Given the description of an element on the screen output the (x, y) to click on. 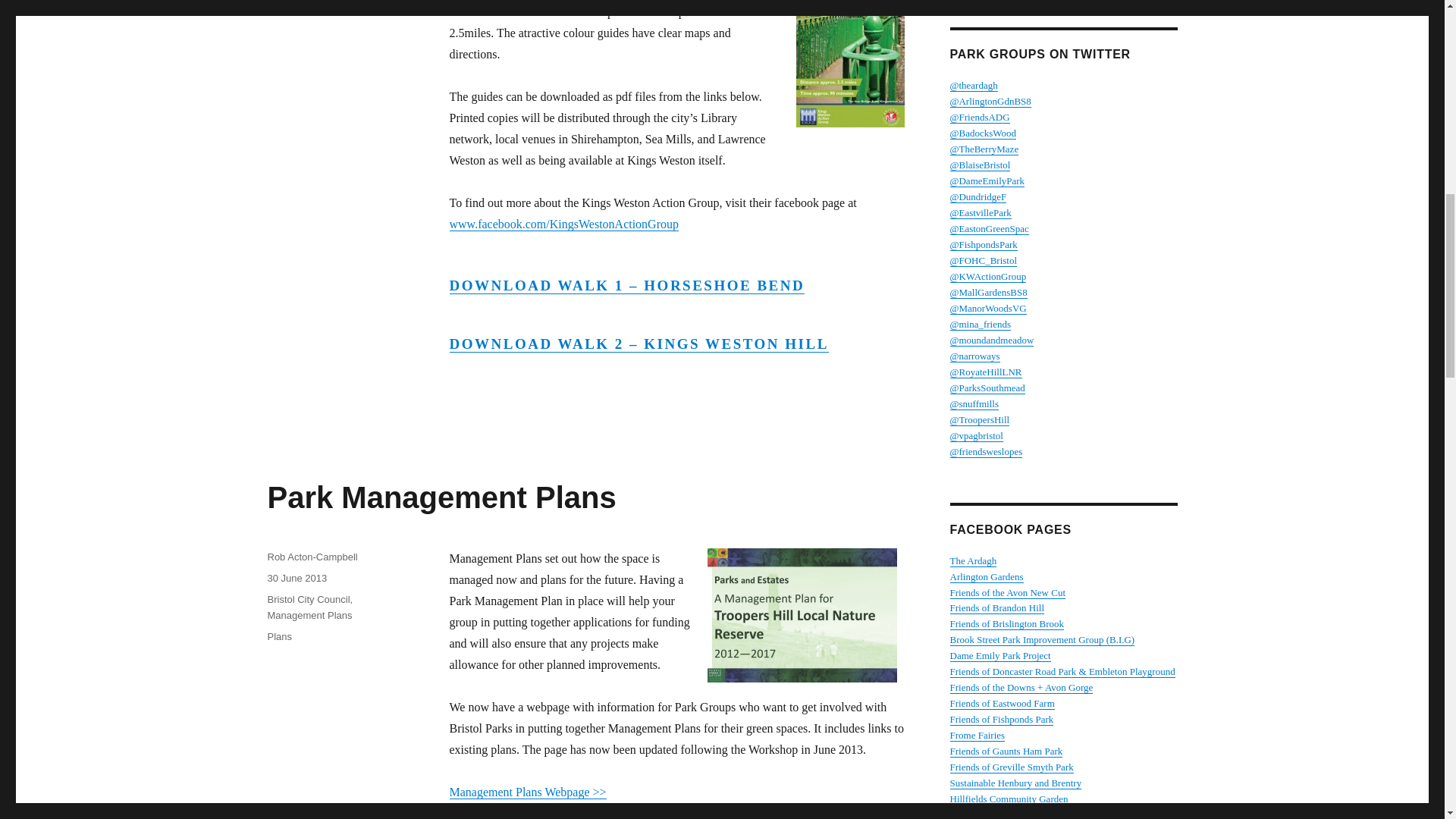
Park Management Plans (440, 497)
30 June 2013 (296, 577)
Rob Acton-Campbell (311, 556)
Management Plans (526, 791)
Bristol City Council (307, 599)
Management Plans (309, 614)
